Given the description of an element on the screen output the (x, y) to click on. 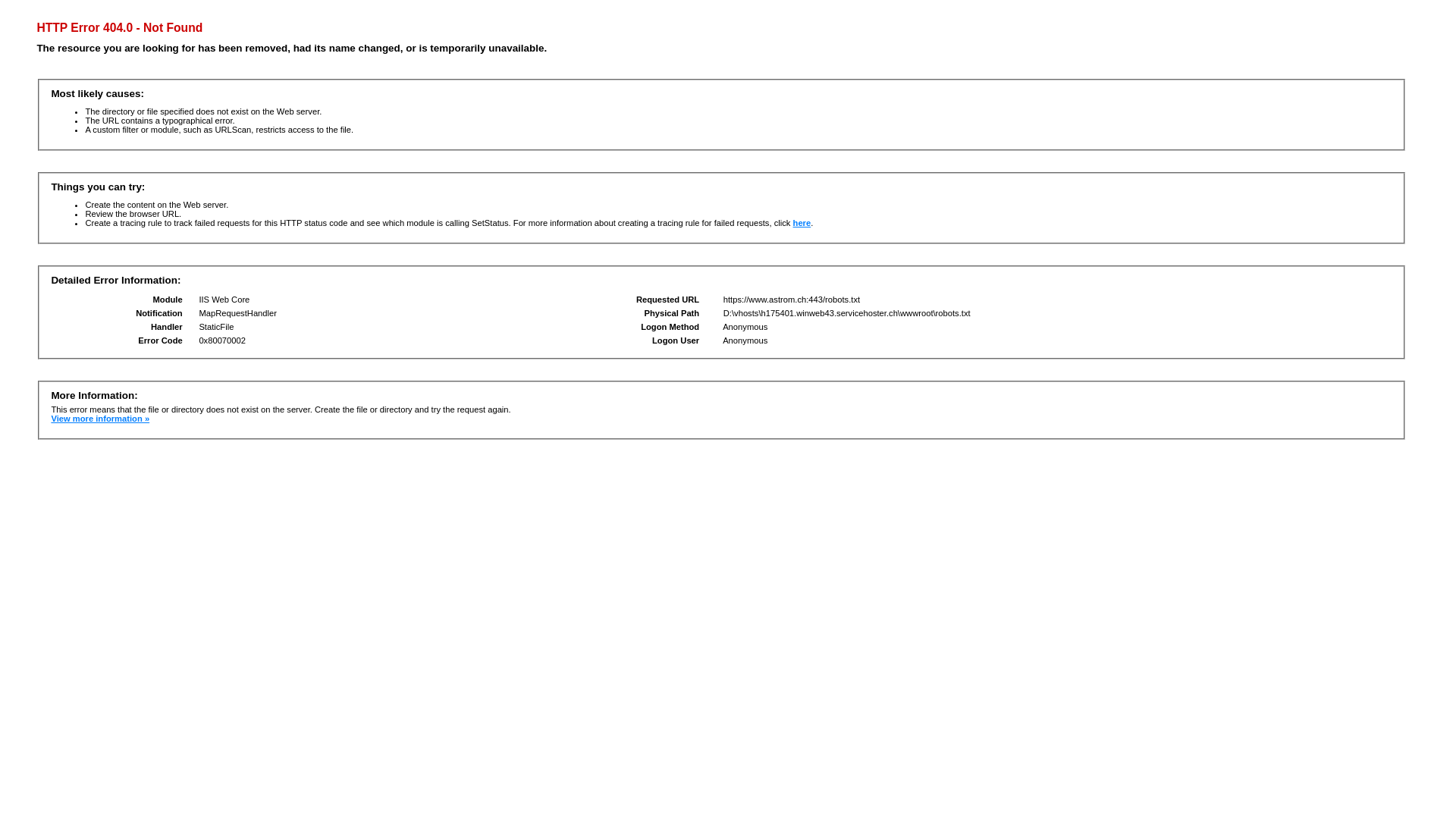
here Element type: text (802, 222)
